Given the description of an element on the screen output the (x, y) to click on. 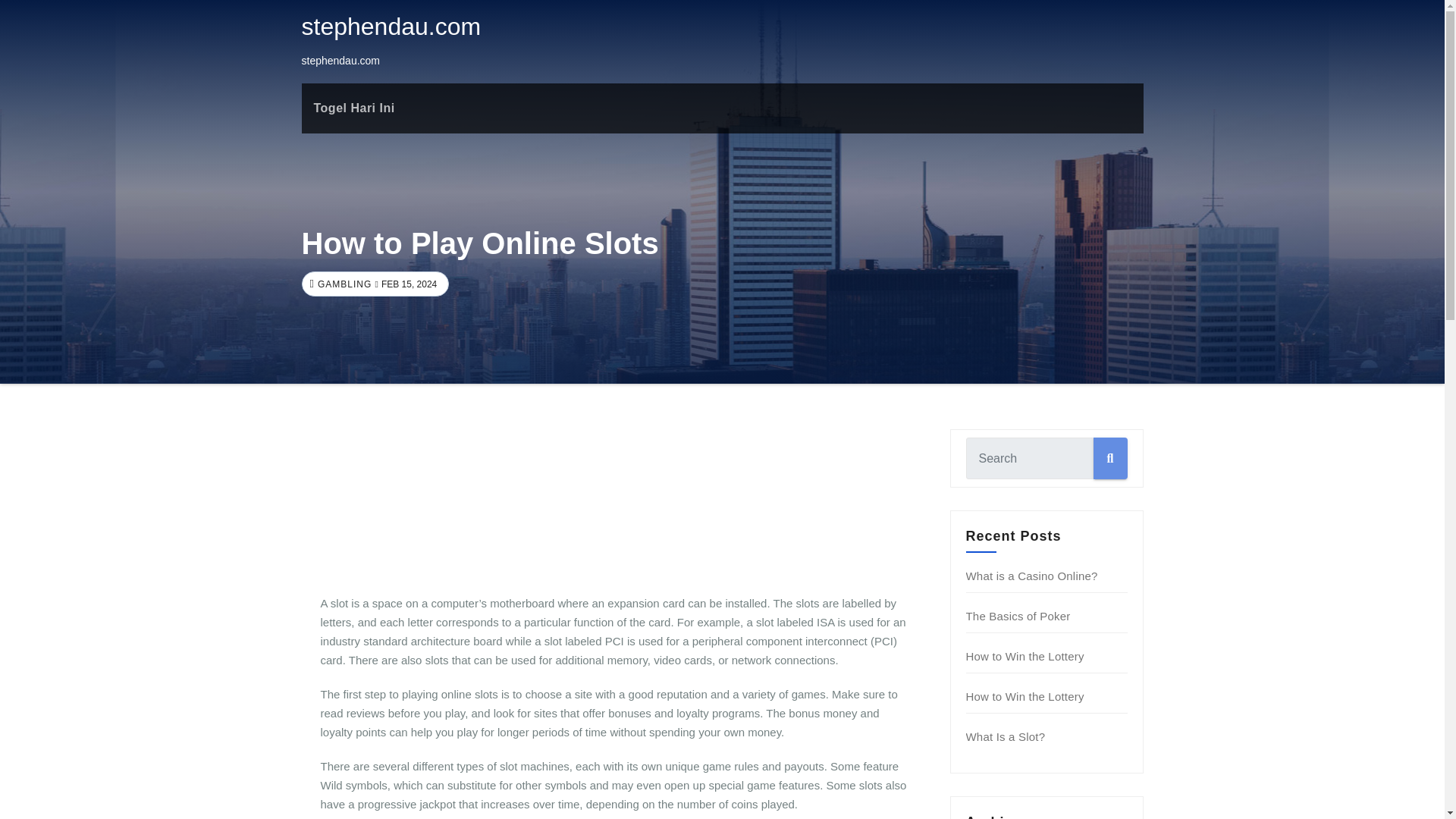
Togel Hari Ini (354, 108)
Togel Hari Ini (354, 108)
GAMBLING (342, 284)
How to Win the Lottery (1025, 696)
stephendau.com (391, 26)
What Is a Slot? (1005, 736)
How to Win the Lottery (1025, 656)
What is a Casino Online? (1031, 575)
The Basics of Poker (1018, 615)
